Given the description of an element on the screen output the (x, y) to click on. 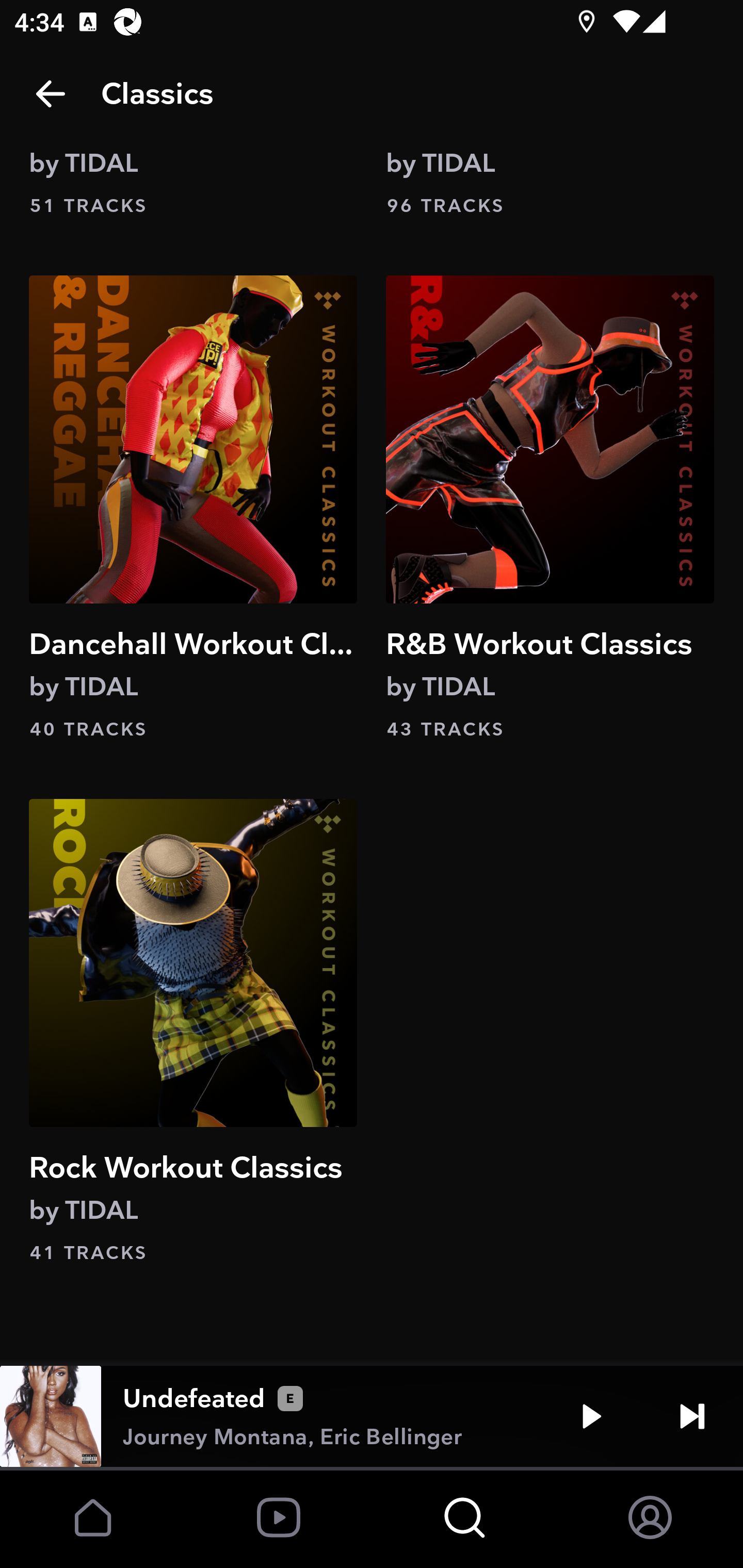
by TIDAL 51 TRACKS (192, 180)
by TIDAL 96 TRACKS (549, 180)
Dancehall Workout Classics by TIDAL 40 TRACKS (192, 508)
R&B Workout Classics by TIDAL 43 TRACKS (549, 508)
Rock Workout Classics by TIDAL 41 TRACKS (192, 1032)
Undefeated    Journey Montana, Eric Bellinger Play (371, 1416)
Play (590, 1416)
